Given the description of an element on the screen output the (x, y) to click on. 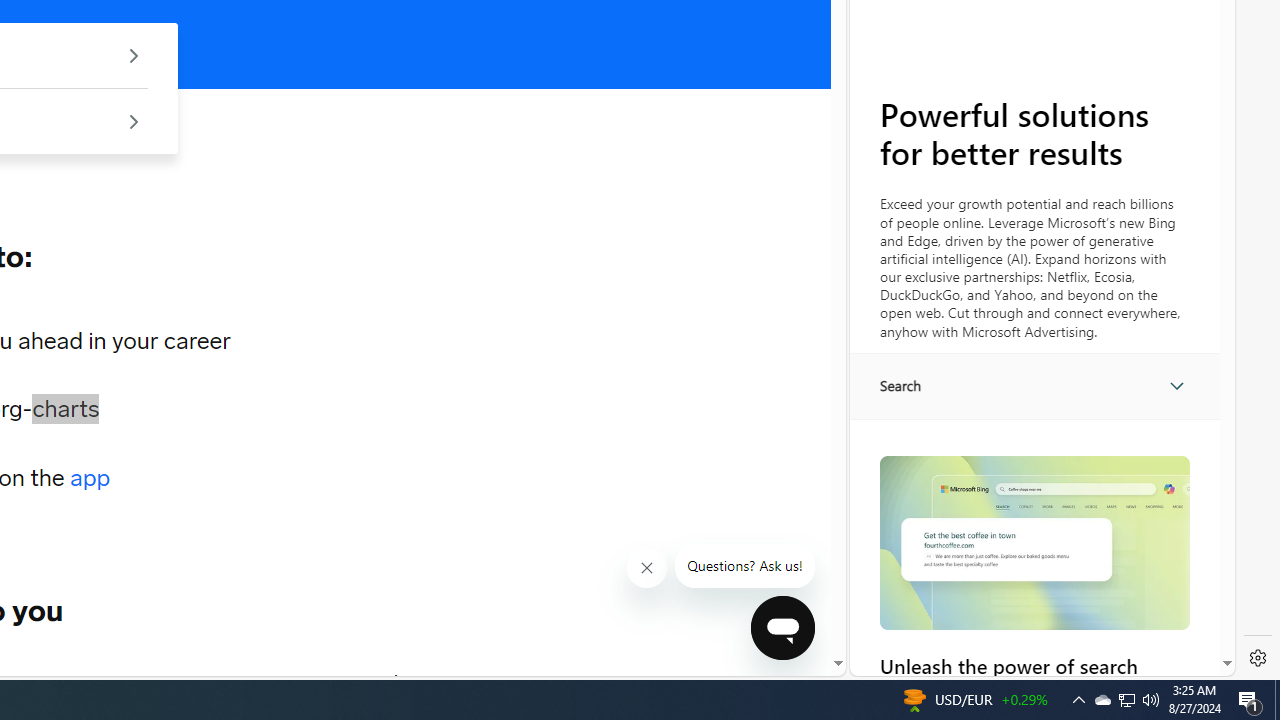
Questions? Ask us! (745, 566)
Close message from company (647, 567)
app (90, 477)
Open in New Tab (1042, 631)
